Given the description of an element on the screen output the (x, y) to click on. 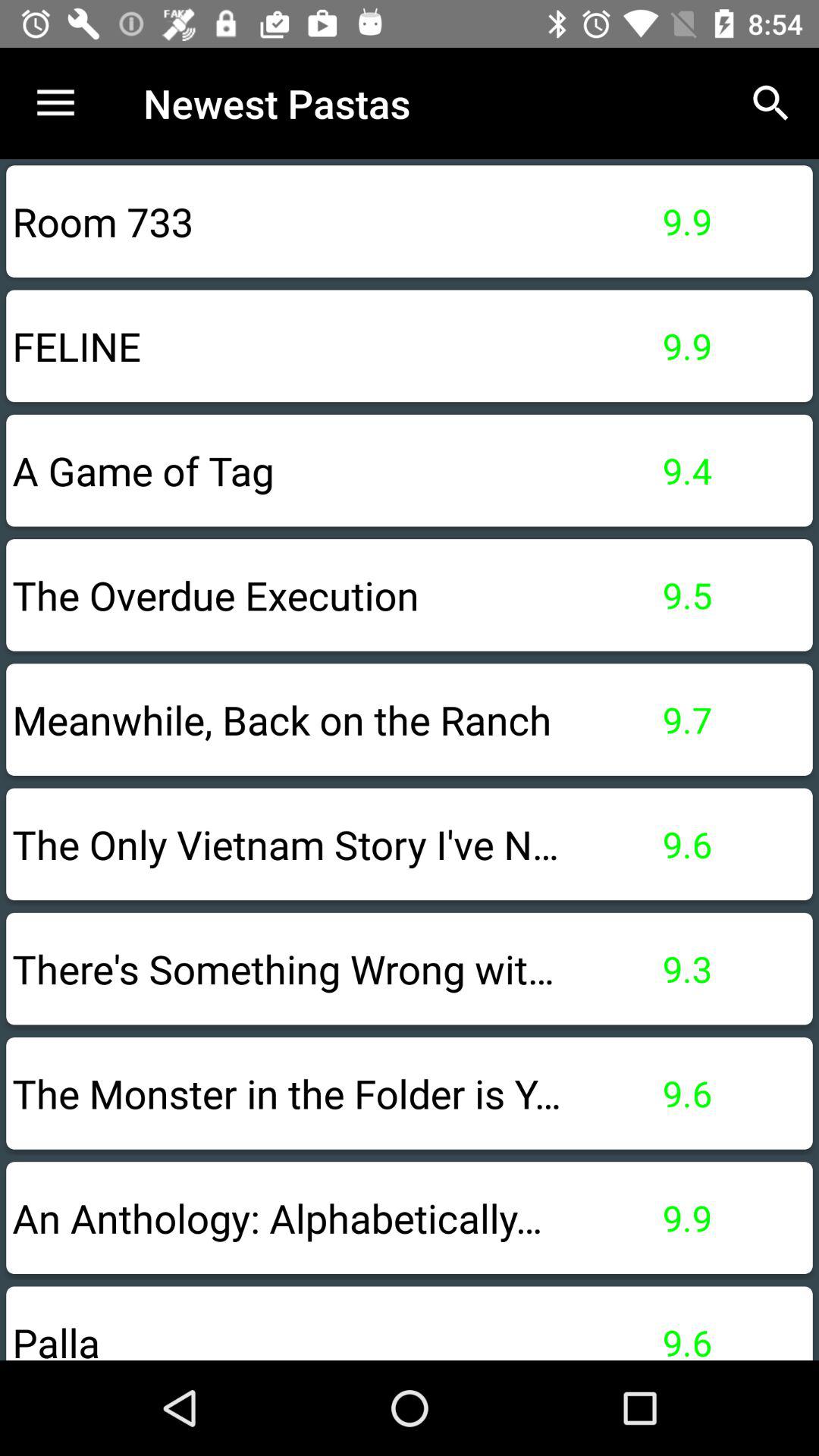
turn on the icon above 9.9 (771, 103)
